Given the description of an element on the screen output the (x, y) to click on. 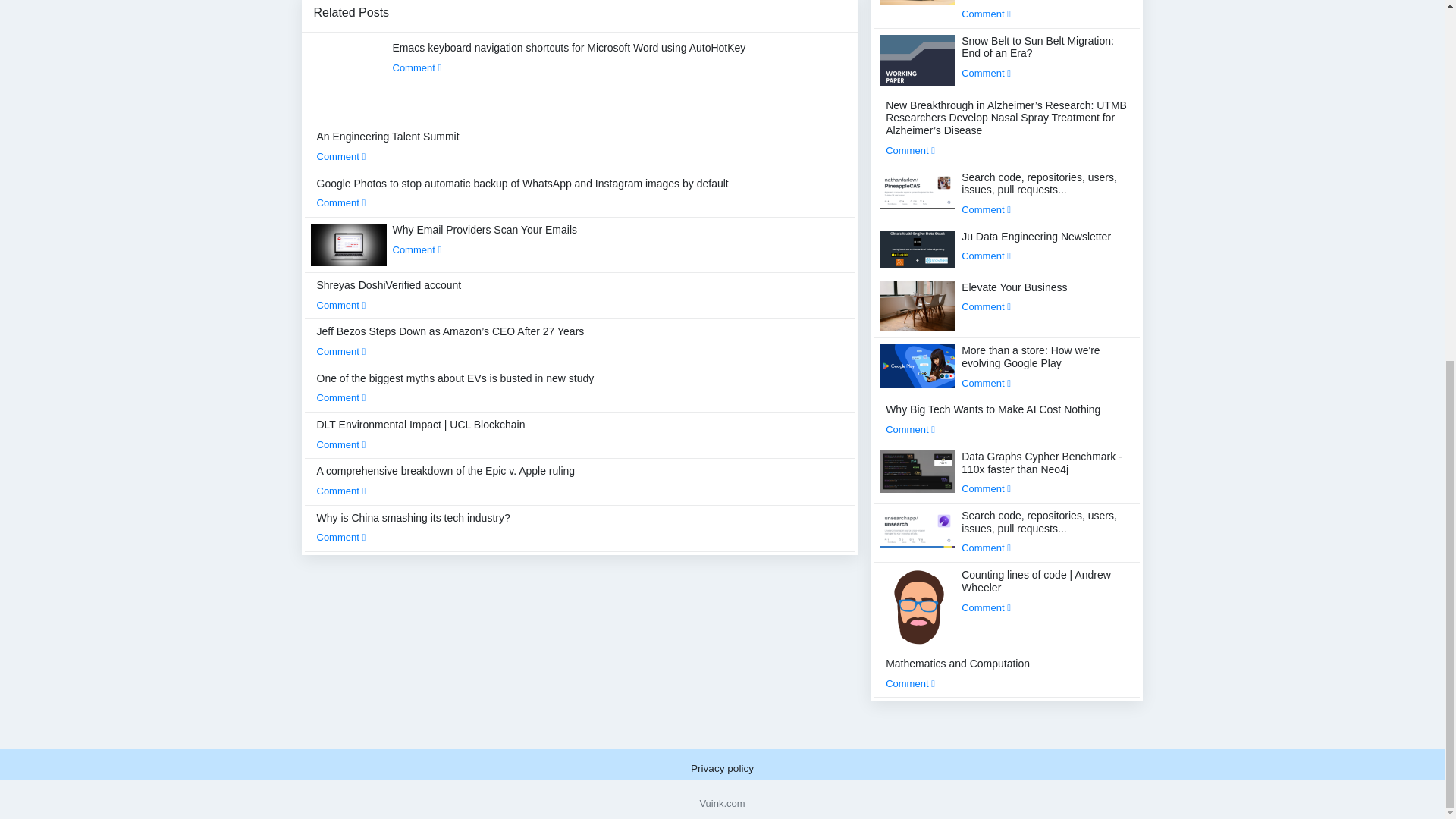
Shreyas DoshiVerified account (389, 295)
One of the biggest myths about EVs is busted in new study (455, 388)
Comment (341, 202)
An Engineering Talent Summit (388, 146)
Comment (417, 67)
Comment (341, 305)
Comment (341, 397)
Comment (417, 249)
Comment (341, 351)
Why Email Providers Scan Your Emails (485, 239)
Comment (341, 156)
